Given the description of an element on the screen output the (x, y) to click on. 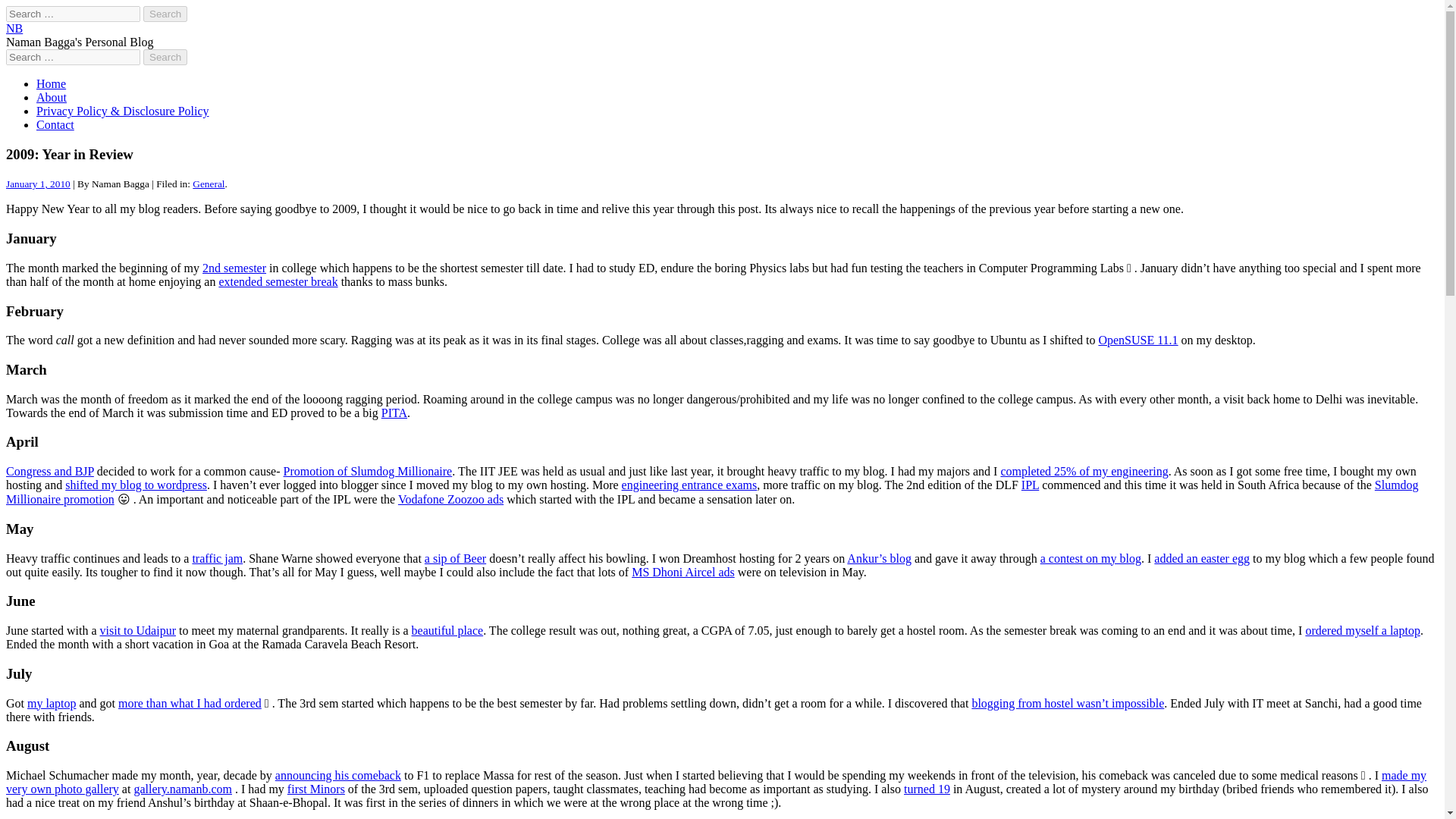
MS Dhoni Aircel ads (683, 571)
announcing his comeback (338, 775)
Search (164, 13)
traffic jam (217, 558)
visit to Udaipur (138, 630)
January 1, 2010 (37, 183)
Contact (55, 124)
OpenSUSE 11.1 (1137, 339)
more than what I had ordered (189, 702)
first Minors (315, 788)
gallery.namanb.com (182, 788)
2nd semester (234, 267)
turned 19 (927, 788)
shifted my blog to wordpress (135, 484)
NB (14, 28)
